Given the description of an element on the screen output the (x, y) to click on. 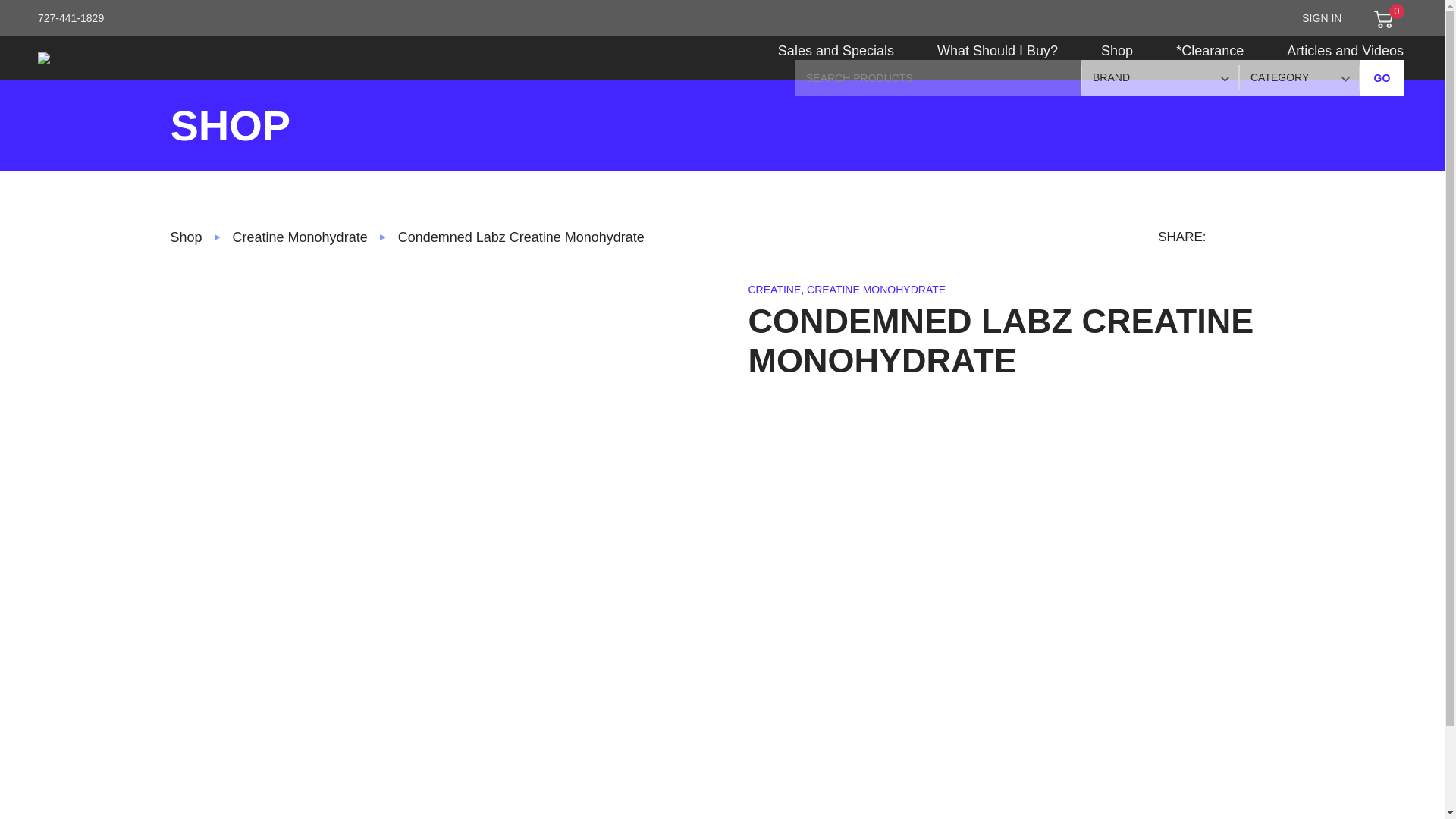
GO (1382, 77)
Sales and Specials (836, 59)
GO (1382, 77)
SIGN IN (1320, 18)
727-441-1829 (71, 18)
Shop (1117, 59)
What Should I Buy? (997, 59)
